Given the description of an element on the screen output the (x, y) to click on. 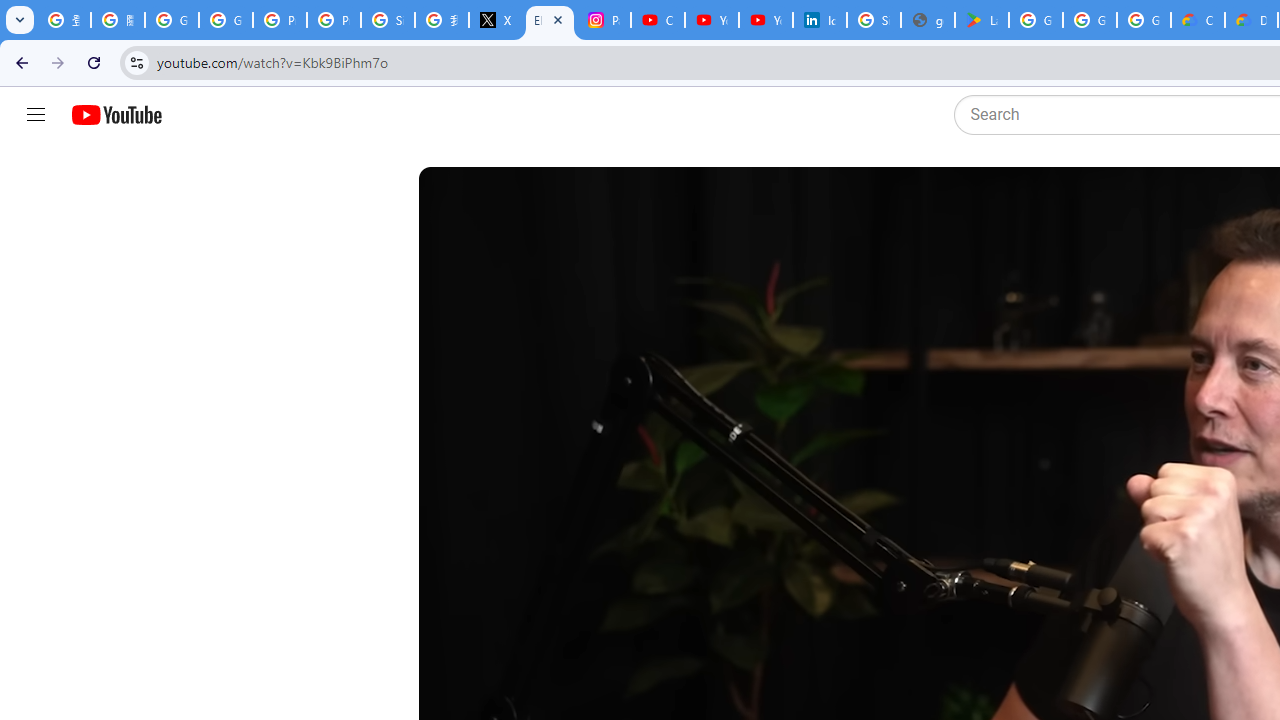
YouTube Culture & Trends - YouTube Top 10, 2021 (765, 20)
Privacy Help Center - Policies Help (280, 20)
YouTube Home (116, 115)
X (495, 20)
Last Shelter: Survival - Apps on Google Play (981, 20)
